Given the description of an element on the screen output the (x, y) to click on. 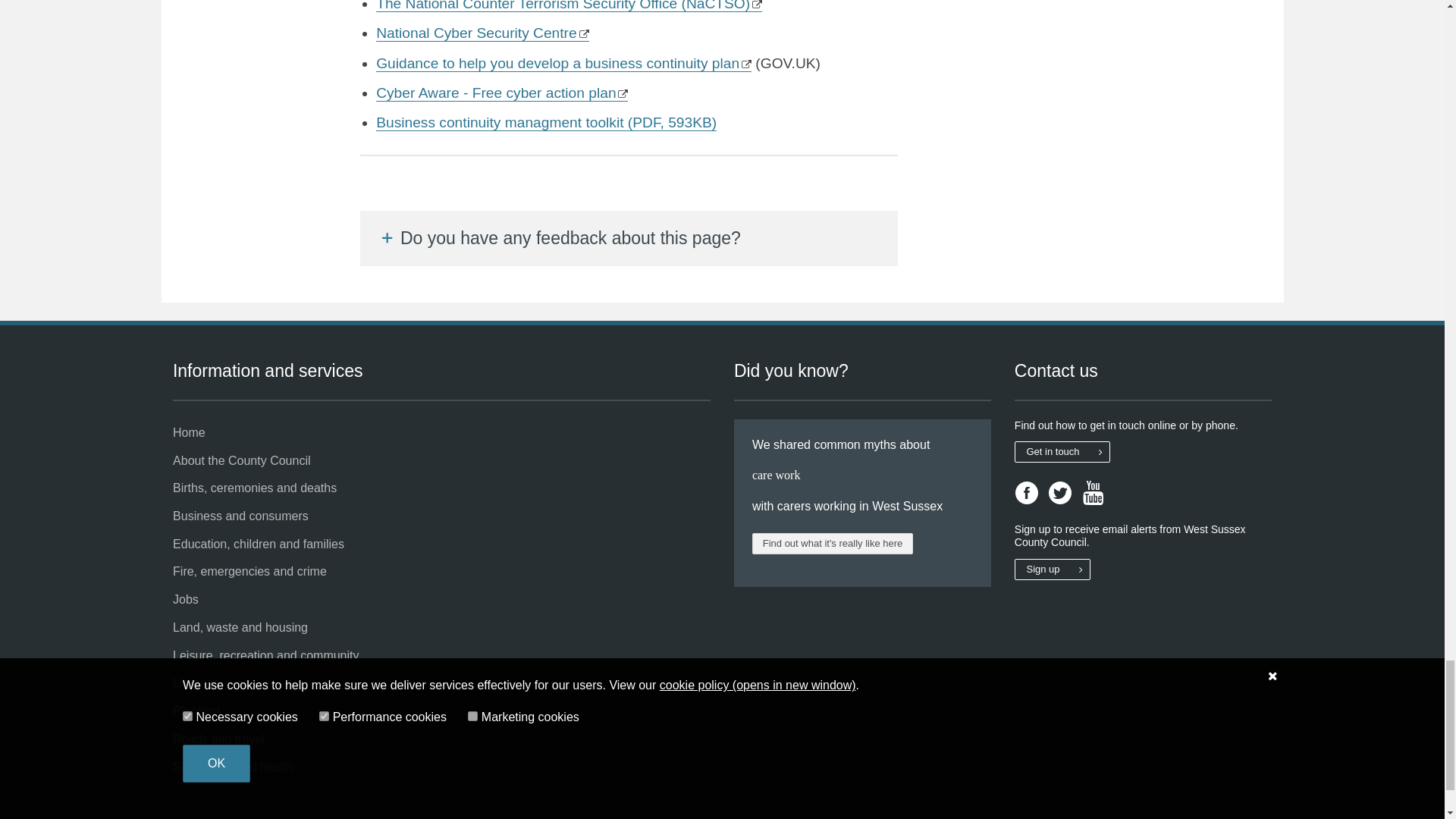
Get in touch (1061, 451)
National Cyber Security Centre (481, 33)
